Given the description of an element on the screen output the (x, y) to click on. 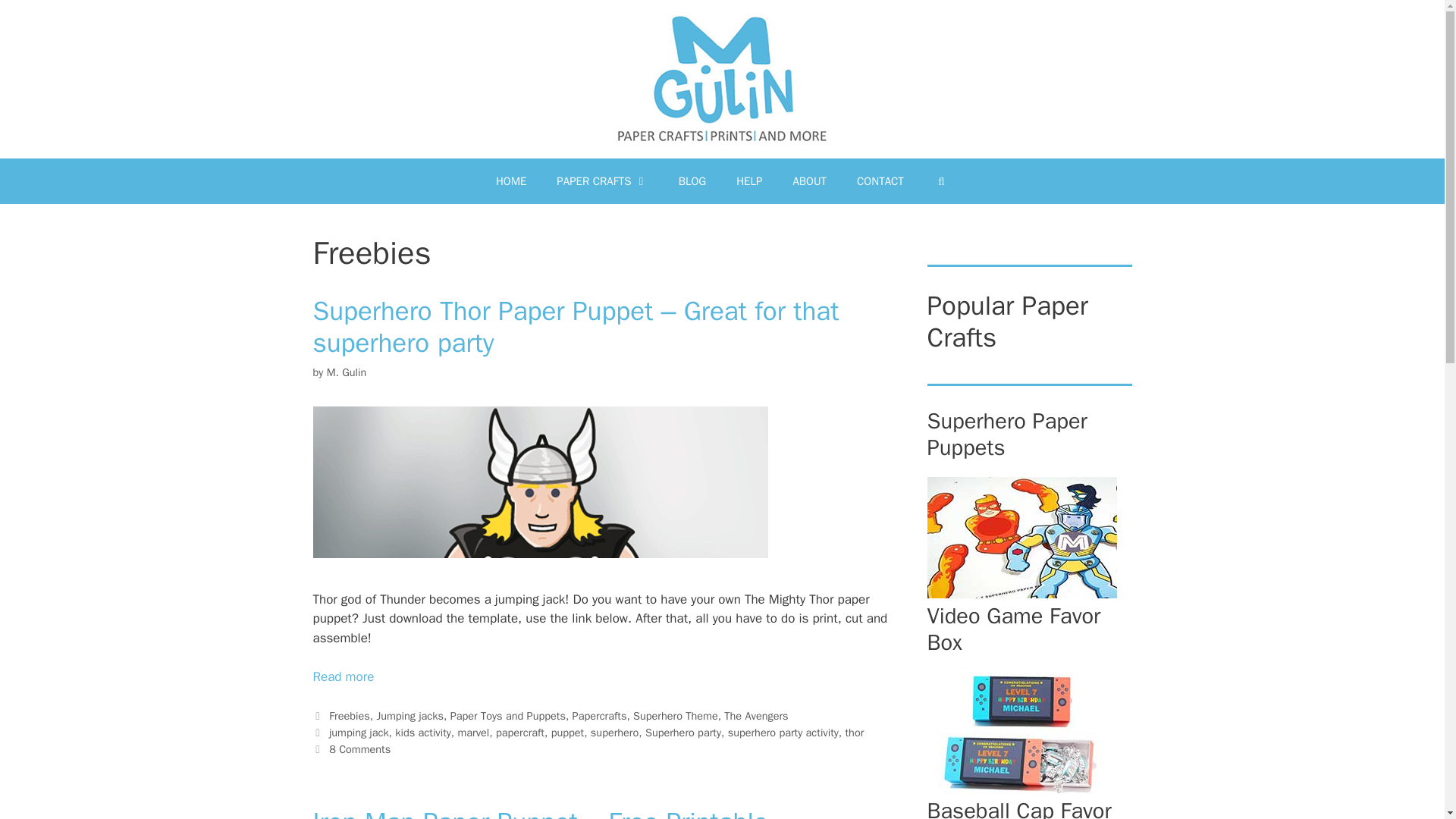
HELP (748, 180)
Jumping jacks (409, 715)
Read more (343, 676)
superhero (615, 732)
kids activity (422, 732)
HOME (510, 180)
superhero party activity (783, 732)
Superhero party (682, 732)
puppet (568, 732)
BLOG (692, 180)
papercraft (520, 732)
View all posts by M. Gulin (346, 372)
Freebies (349, 715)
The Avengers (755, 715)
jumping jack (358, 732)
